Given the description of an element on the screen output the (x, y) to click on. 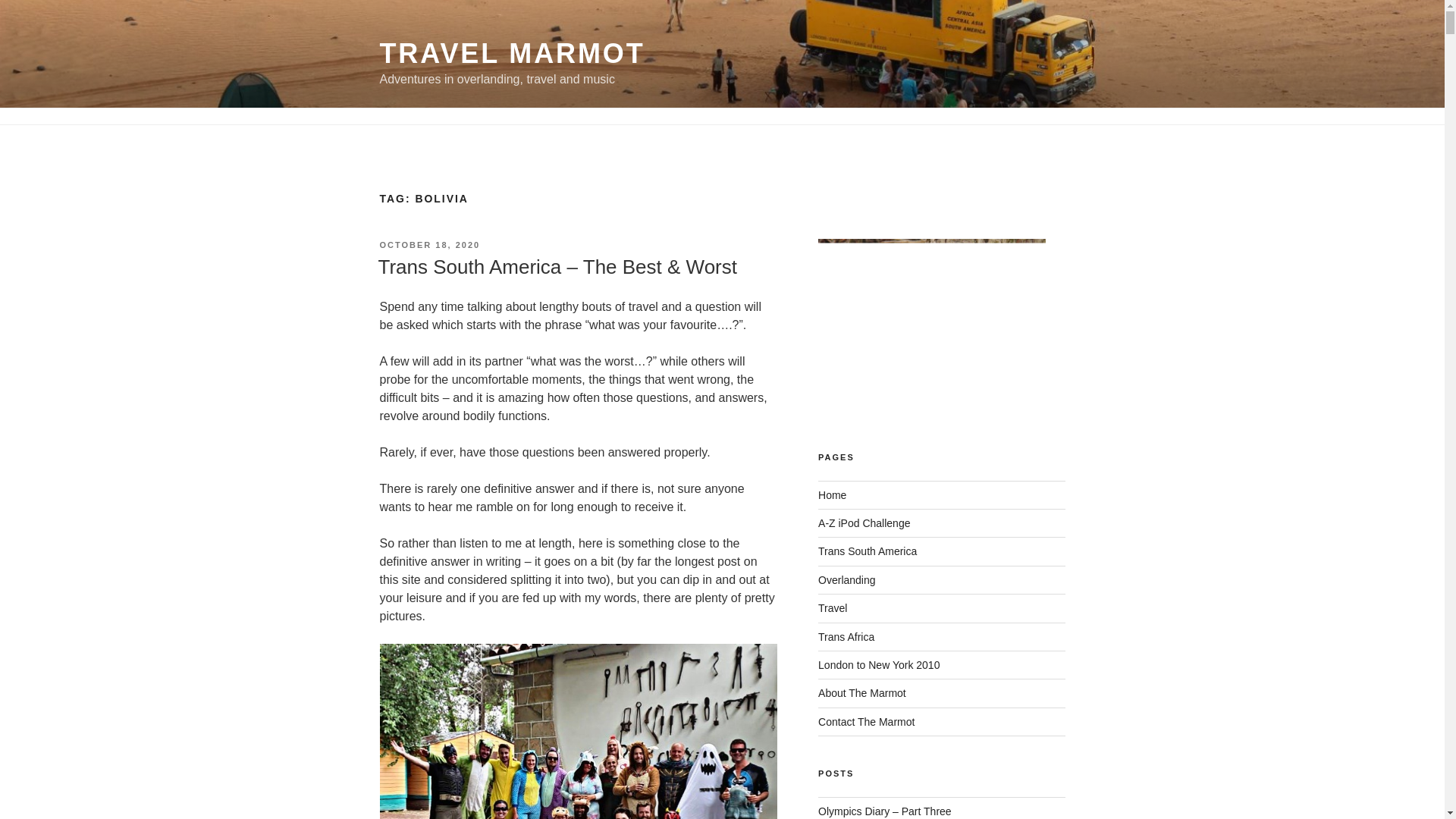
OCTOBER 18, 2020 (429, 244)
TRAVEL MARMOT (511, 52)
